Given the description of an element on the screen output the (x, y) to click on. 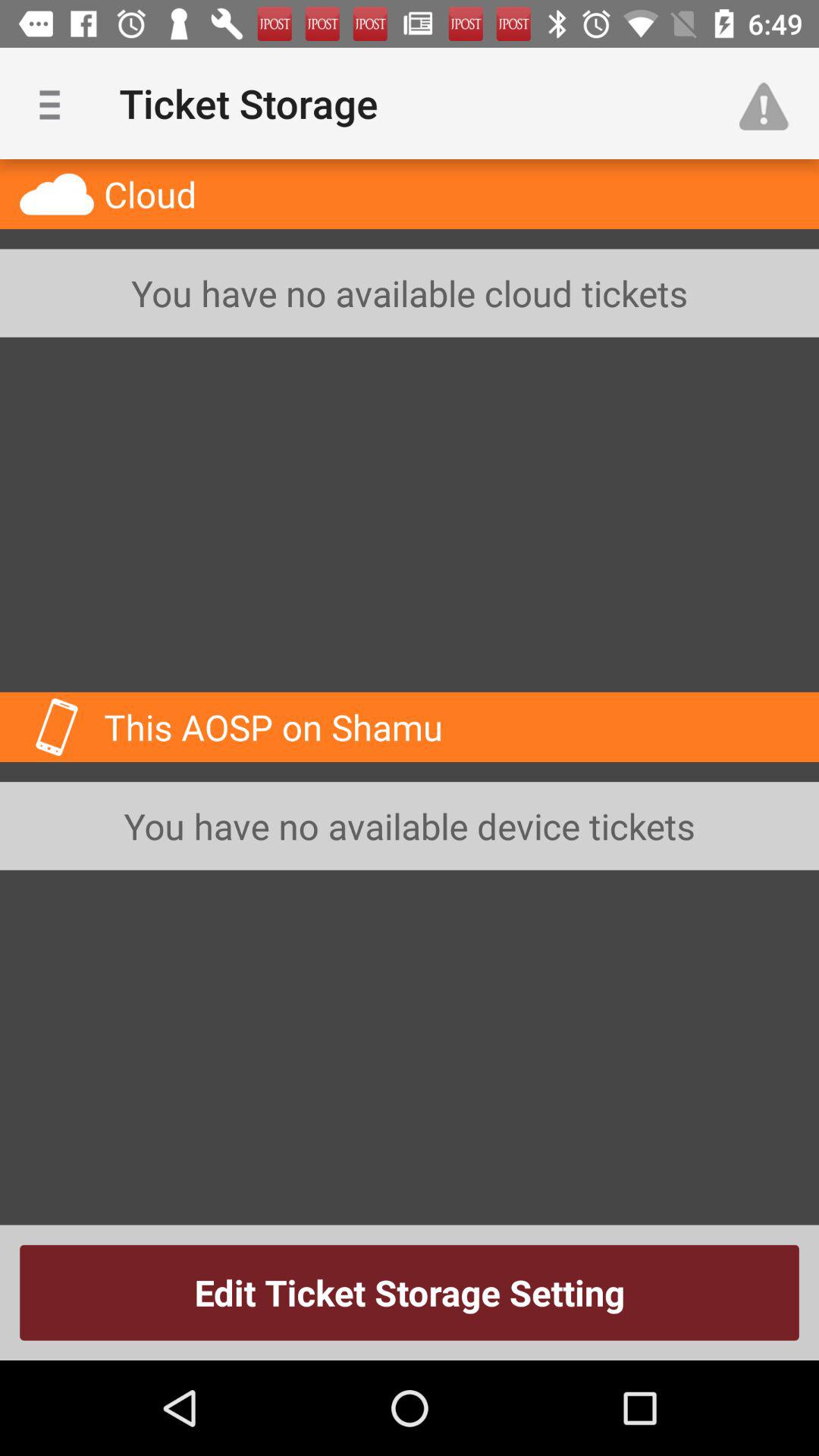
launch the item at the top right corner (771, 103)
